Given the description of an element on the screen output the (x, y) to click on. 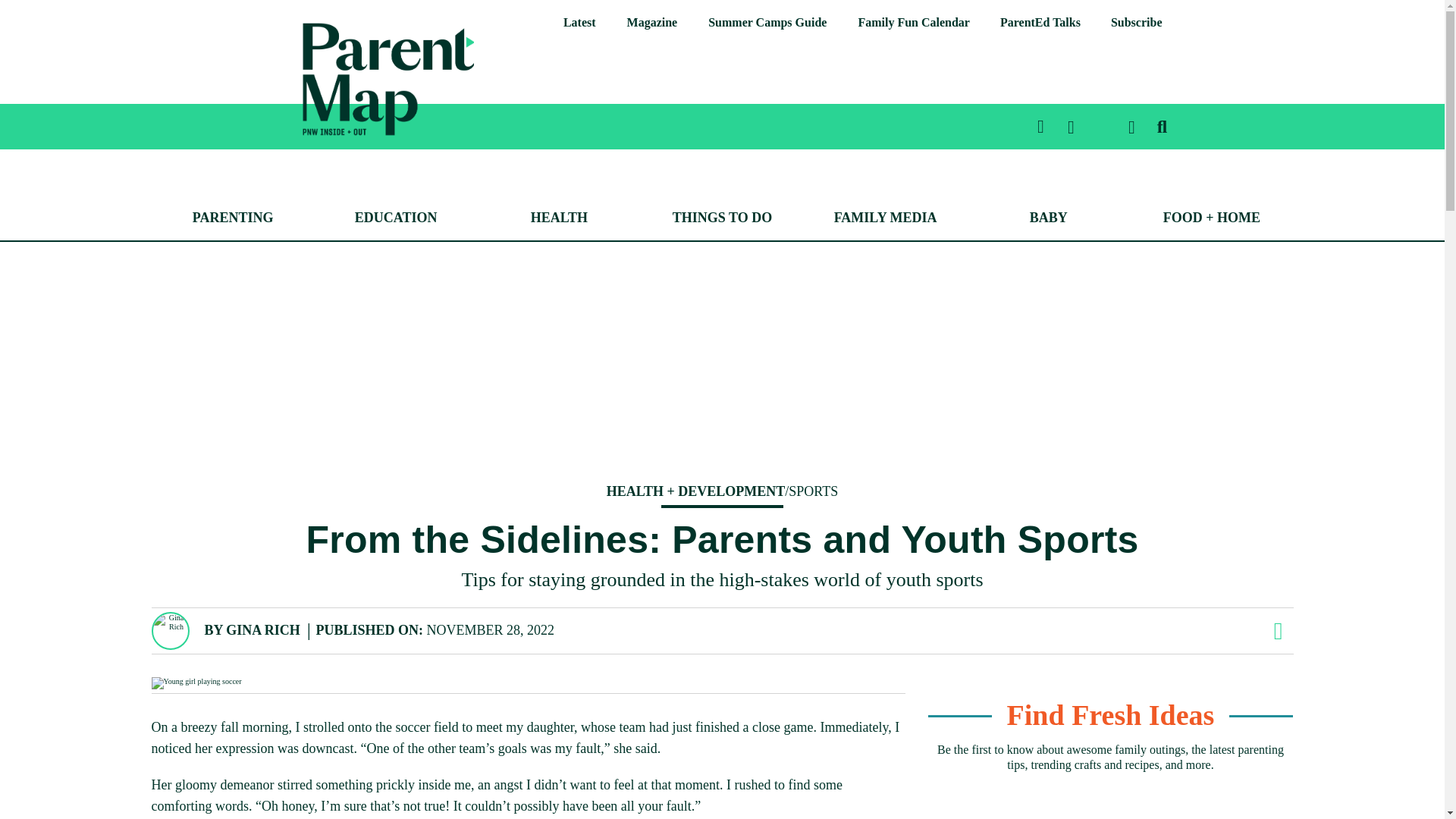
ParentMap (312, 145)
Magazine (652, 22)
Latest (579, 22)
Summer Camps Guide (767, 22)
Search (1405, 72)
ParentEd Talks (1040, 22)
Family Fun Calendar (913, 22)
Leave a comment (1277, 630)
Subscribe (1136, 22)
Home (312, 145)
Gina Rich (262, 630)
Home (388, 78)
Calendar (913, 22)
